Given the description of an element on the screen output the (x, y) to click on. 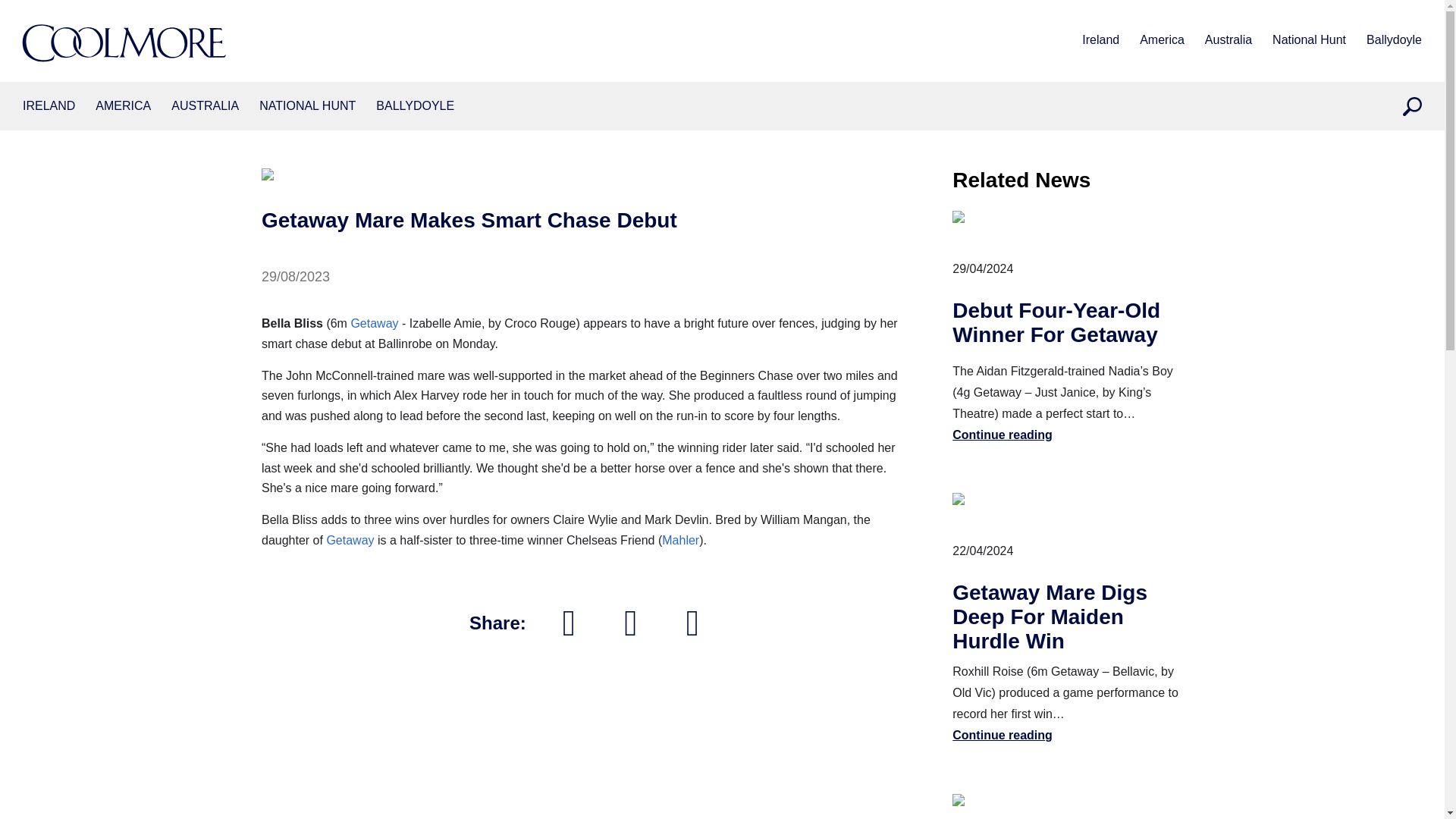
AMERICA (123, 106)
Mahler (680, 540)
icon-magCreated with Sketch. (1412, 106)
Getaway (373, 323)
Australia (204, 106)
America (123, 106)
Ballydoyle (414, 106)
National Hunt (307, 106)
AUSTRALIA (204, 106)
America (1162, 40)
